Given the description of an element on the screen output the (x, y) to click on. 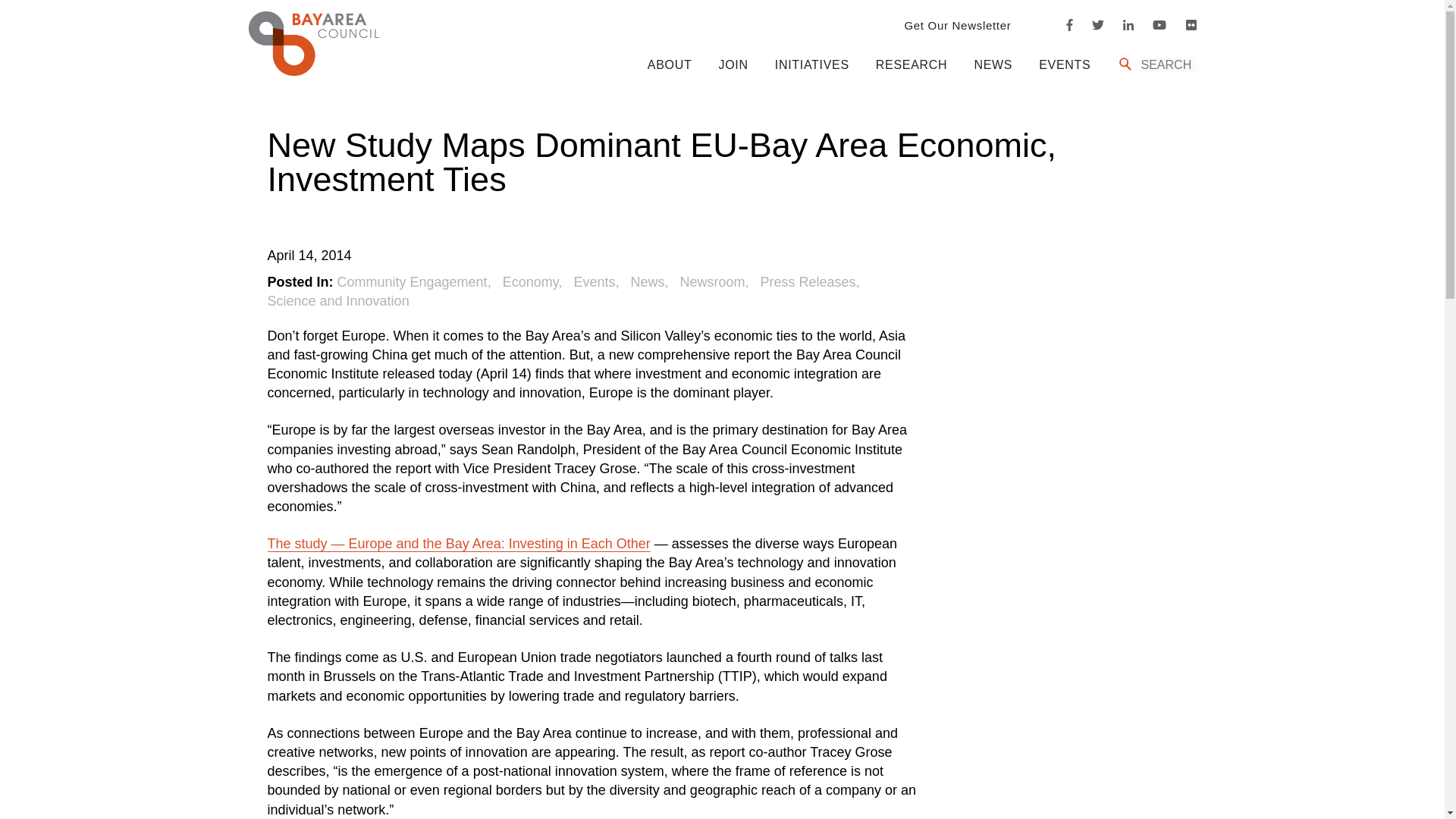
View all in Events (598, 281)
View all in Community Engagement (416, 281)
JOIN (732, 64)
INITIATIVES (811, 64)
Get Our Newsletter (957, 24)
RESEARCH (911, 64)
NEWS (992, 64)
ABOUT (670, 64)
View all in Science and Innovation (337, 300)
View all in Economy (534, 281)
View all in Newsroom (715, 281)
View all in Press Releases (810, 281)
View all in News (650, 281)
